Given the description of an element on the screen output the (x, y) to click on. 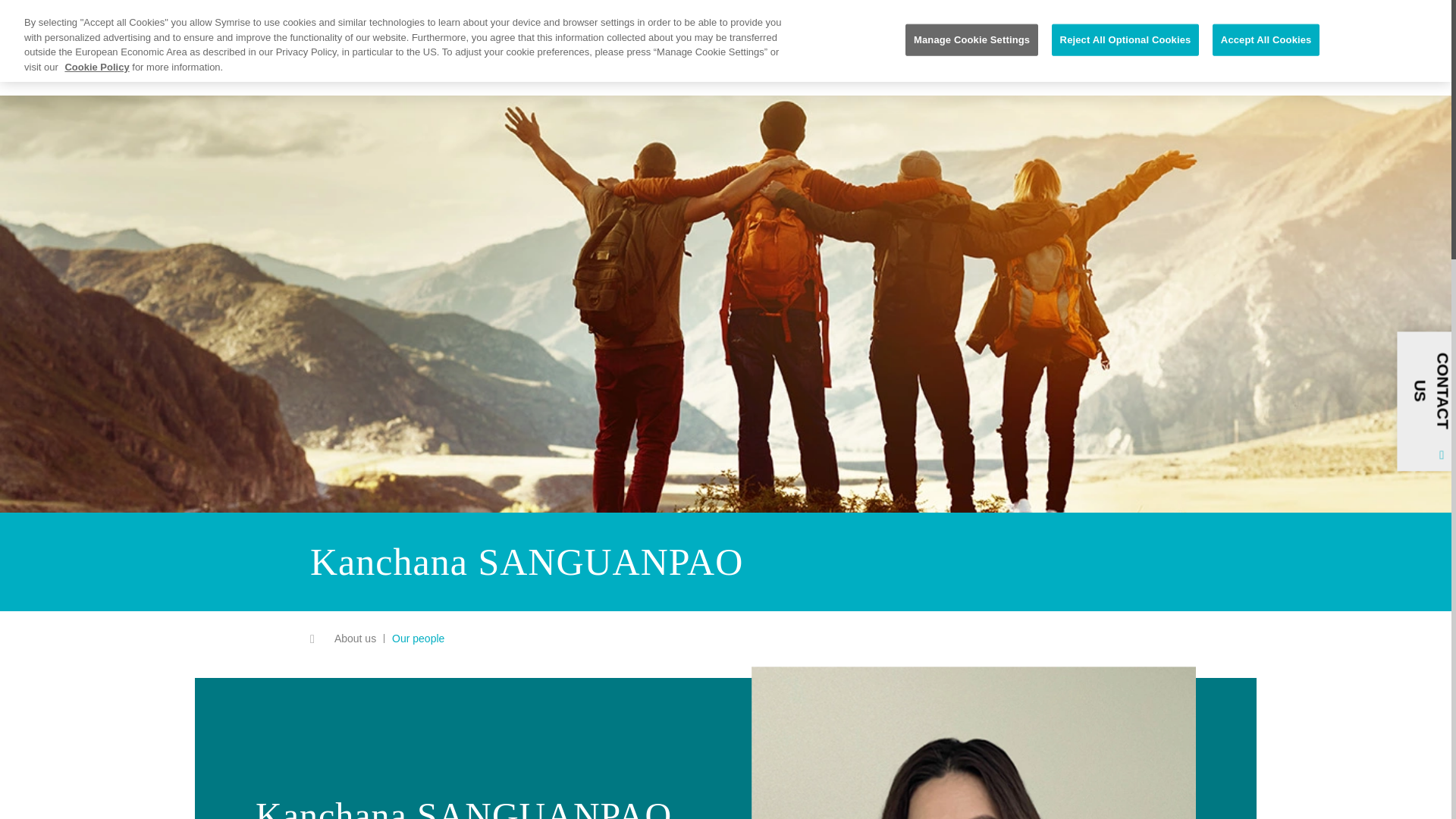
About us (283, 15)
Products (349, 15)
Innovation (419, 15)
Symrise Aqua Feed (234, 14)
About us (283, 15)
Products (349, 15)
